Given the description of an element on the screen output the (x, y) to click on. 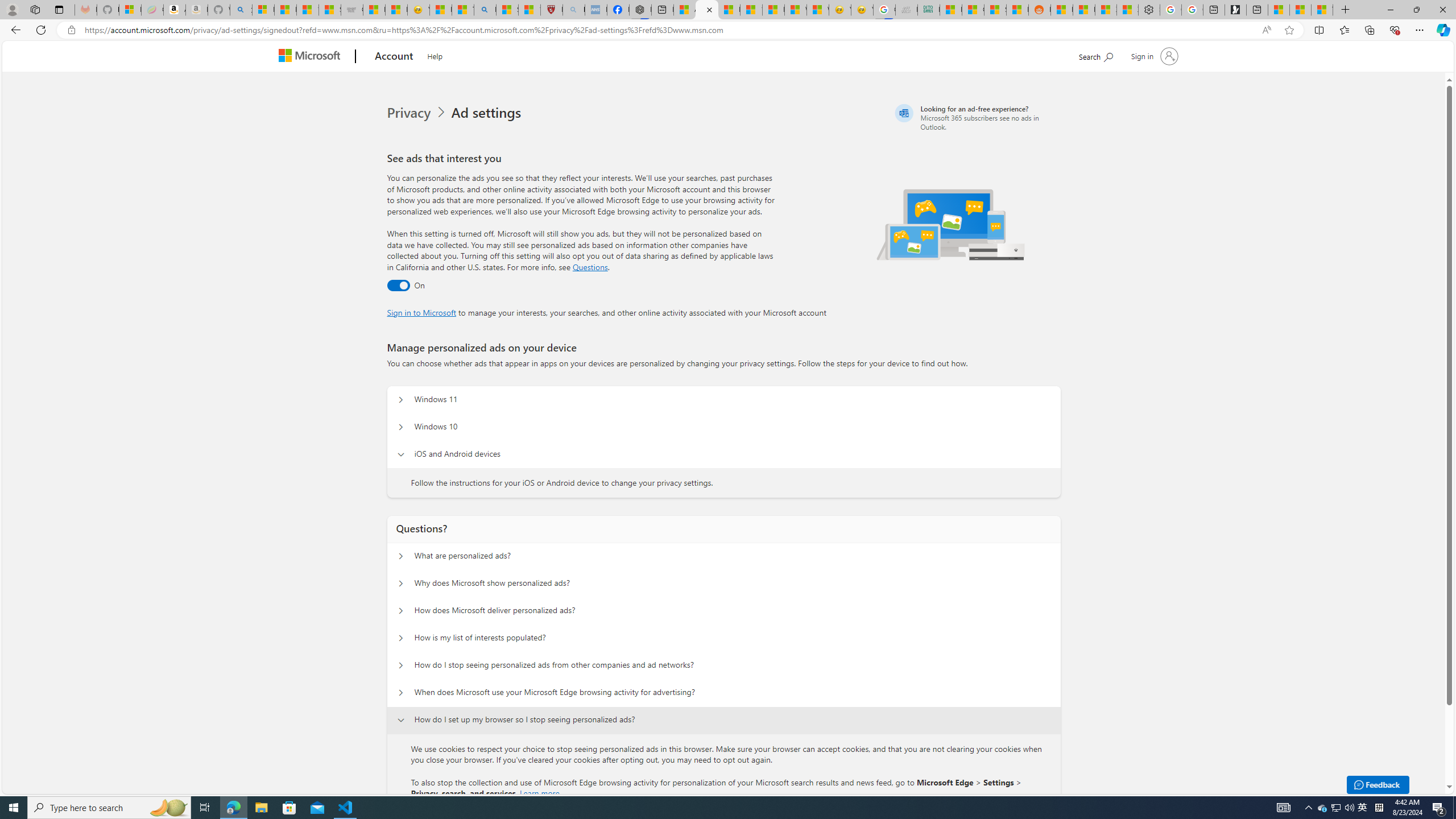
Questions? What are personalized ads? (401, 556)
Account (394, 56)
Ad settings toggle (398, 285)
Search Microsoft.com (1095, 54)
